Given the description of an element on the screen output the (x, y) to click on. 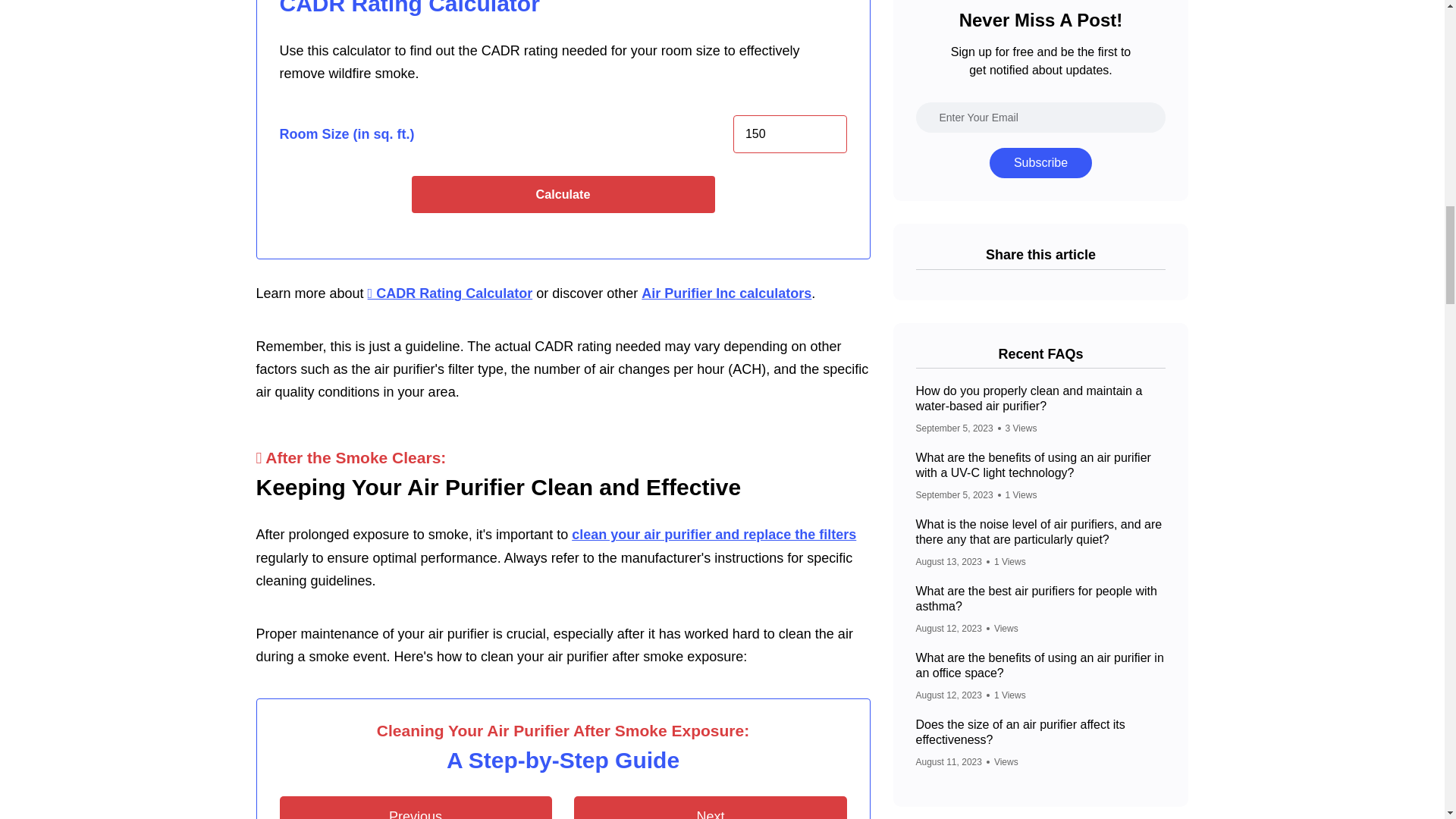
150 (790, 134)
